Given the description of an element on the screen output the (x, y) to click on. 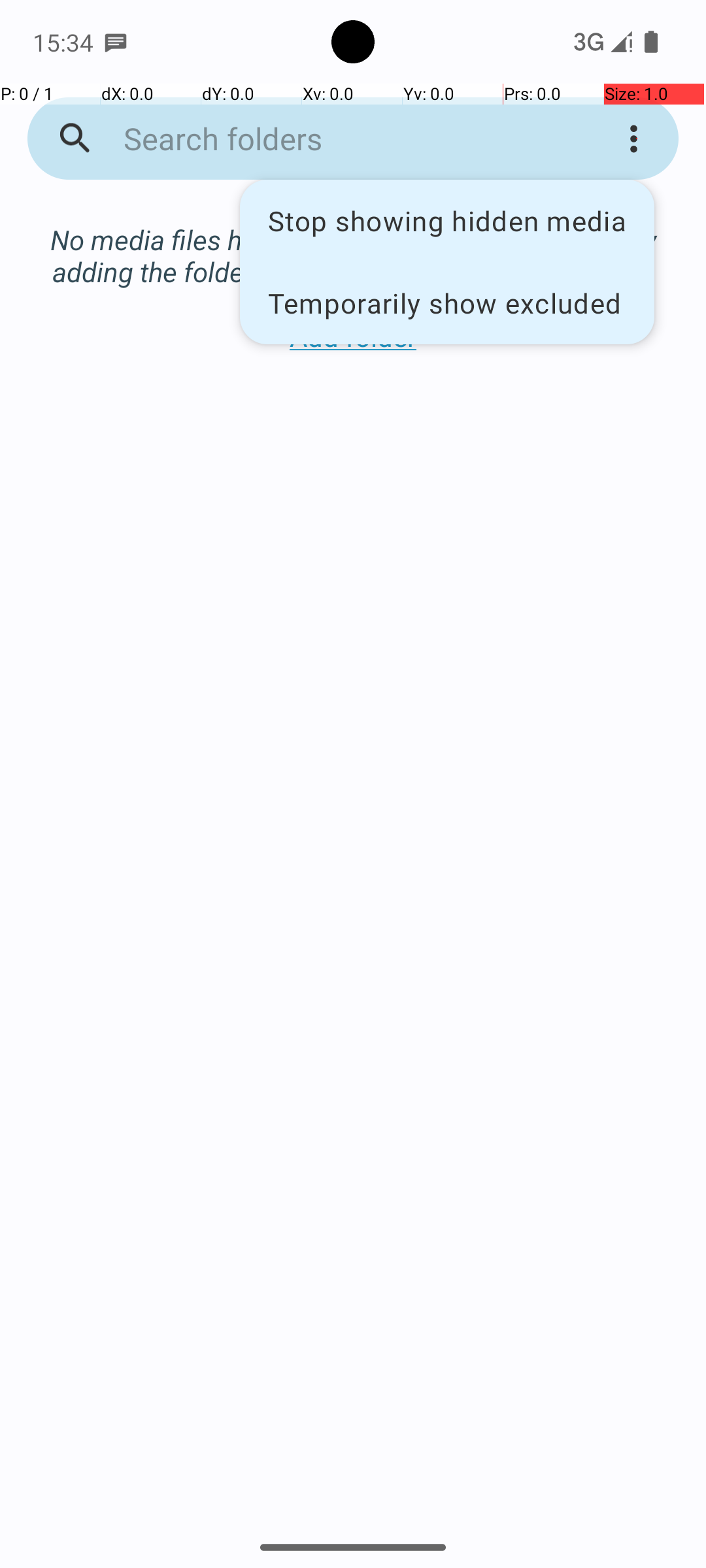
Stop showing hidden media Element type: android.widget.TextView (446, 220)
Temporarily show excluded Element type: android.widget.TextView (446, 302)
